Given the description of an element on the screen output the (x, y) to click on. 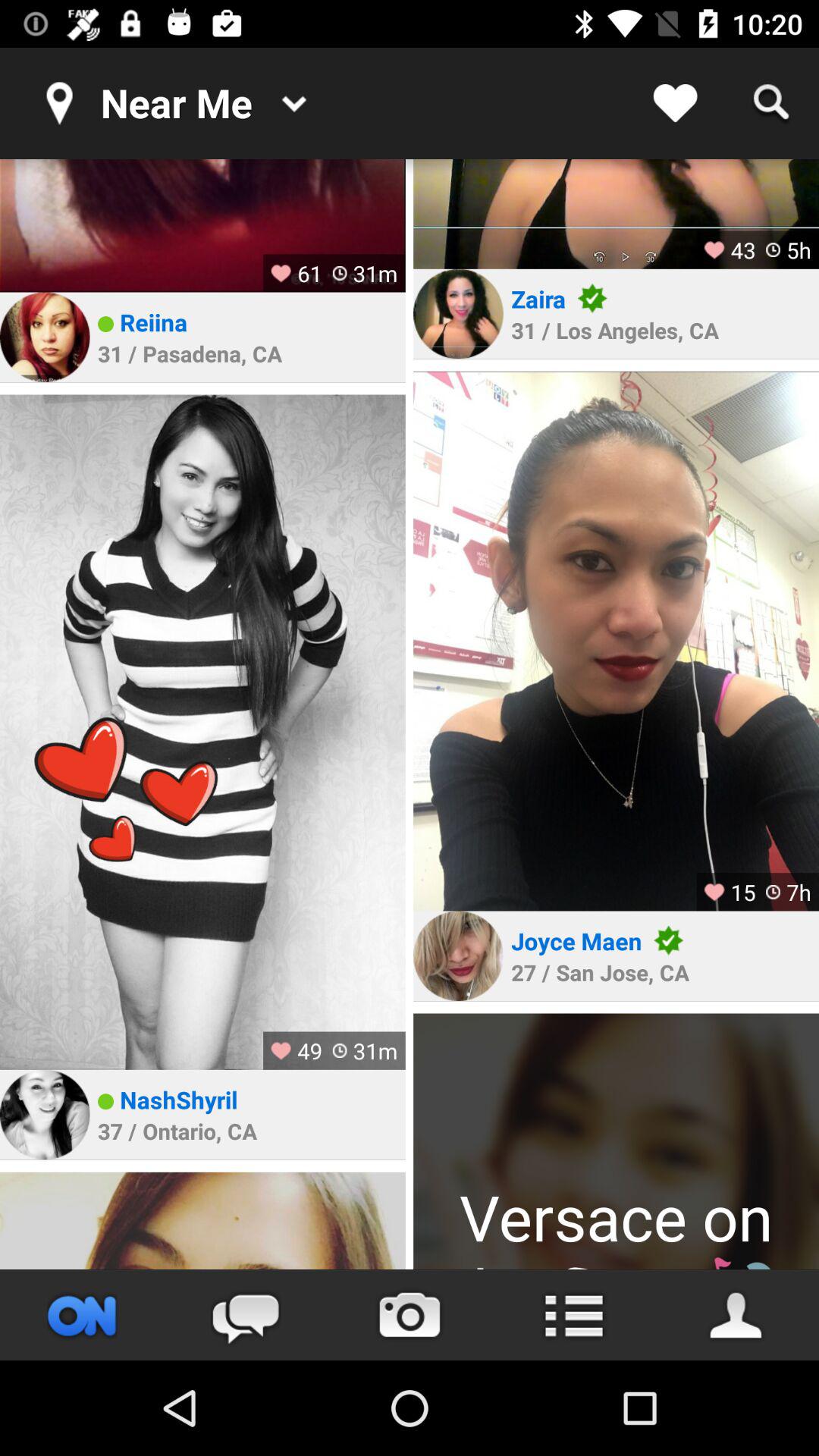
choose the item above the 27 san jose (576, 940)
